Given the description of an element on the screen output the (x, y) to click on. 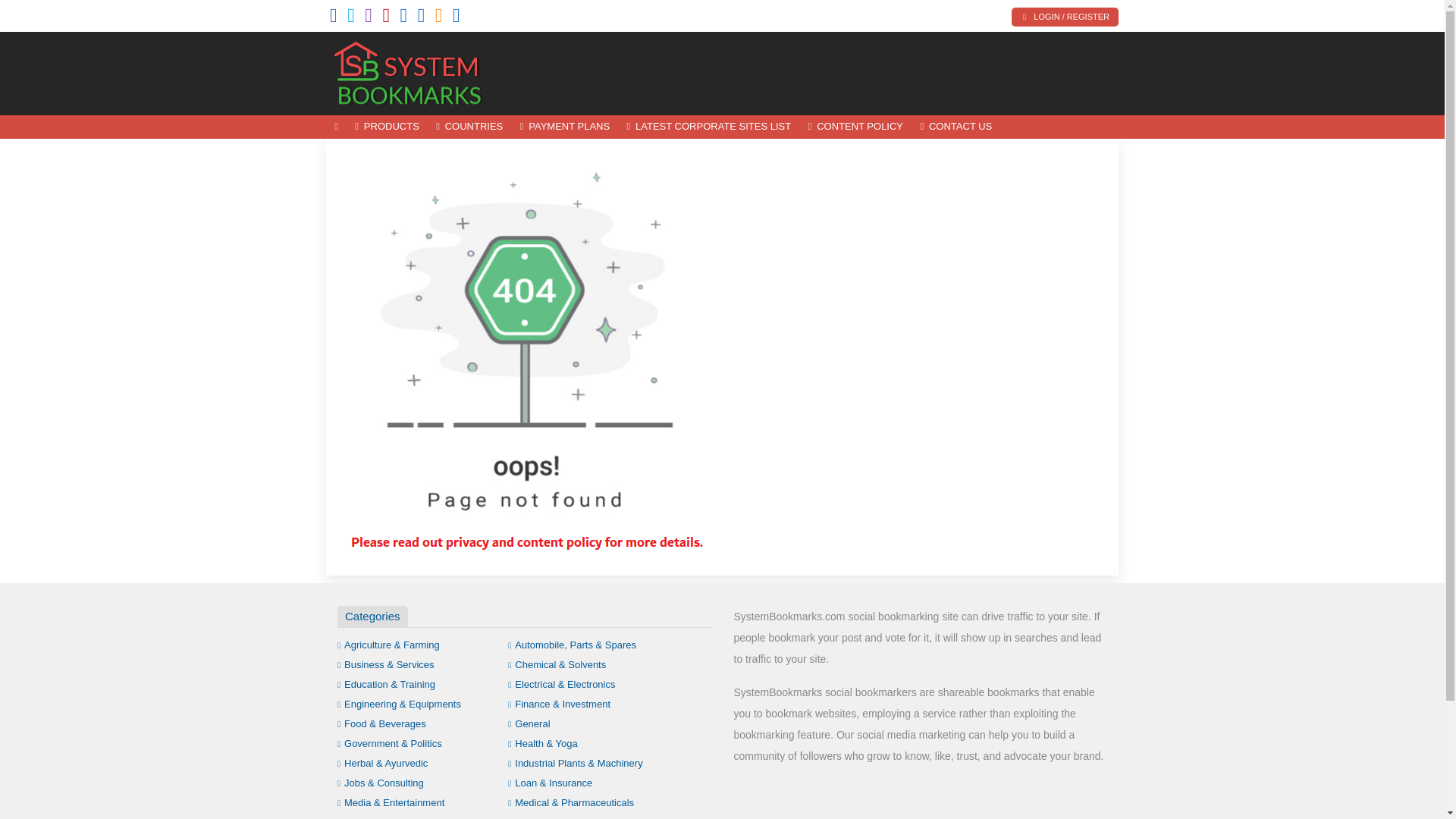
Twitter (351, 18)
PAYMENT PLANS (564, 126)
General (529, 723)
Pinterest (385, 18)
CONTACT US (955, 126)
PRODUCTS (387, 126)
Tumblr (403, 18)
CONTENT POLICY (855, 126)
LATEST CORPORATE SITES LIST (708, 126)
RSS Feed (438, 18)
Instagram (368, 18)
Linked In (456, 18)
HOME (336, 126)
COUNTRIES (469, 126)
